Given the description of an element on the screen output the (x, y) to click on. 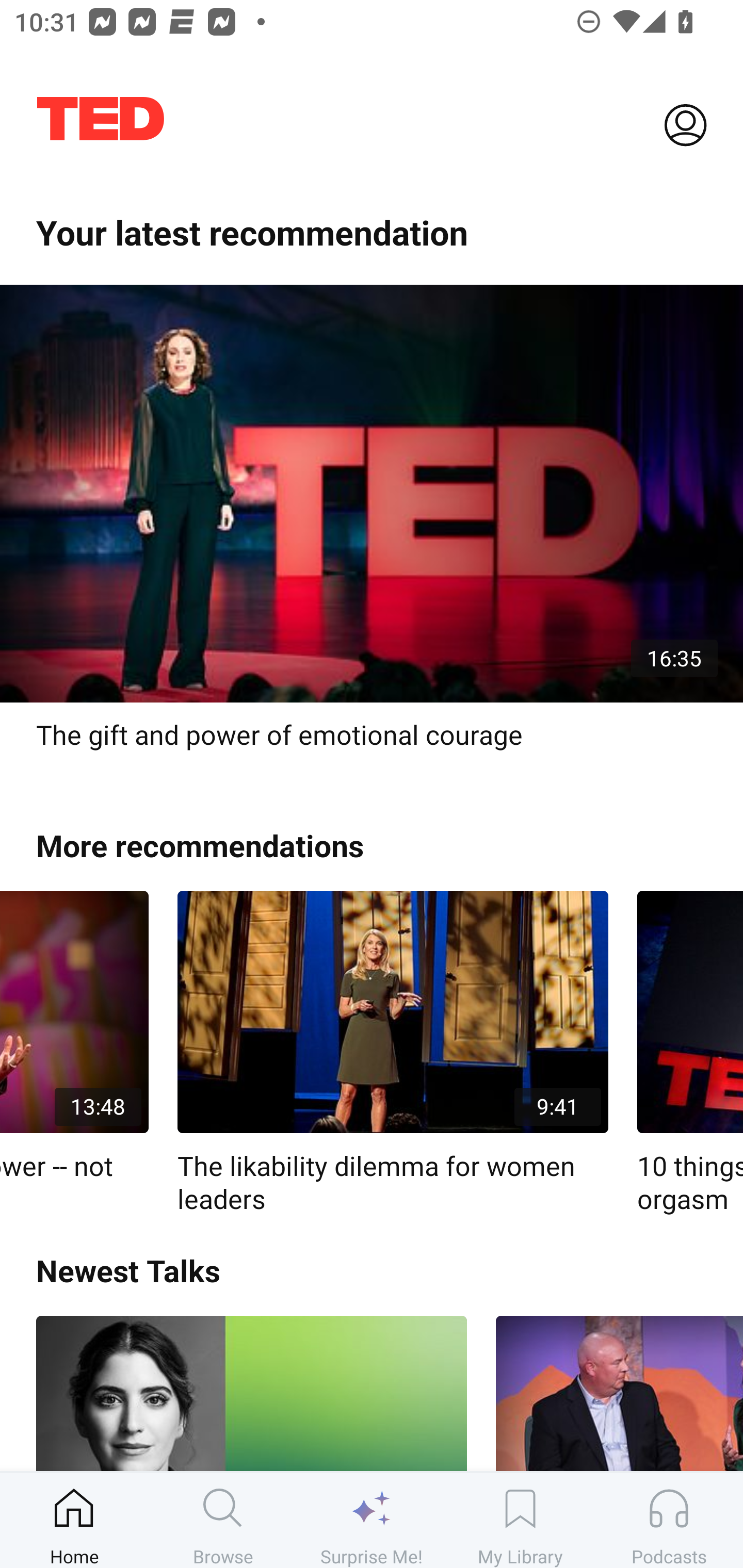
9:41 The likability dilemma for women leaders (392, 1053)
Home (74, 1520)
Browse (222, 1520)
Surprise Me! (371, 1520)
My Library (519, 1520)
Podcasts (668, 1520)
